Given the description of an element on the screen output the (x, y) to click on. 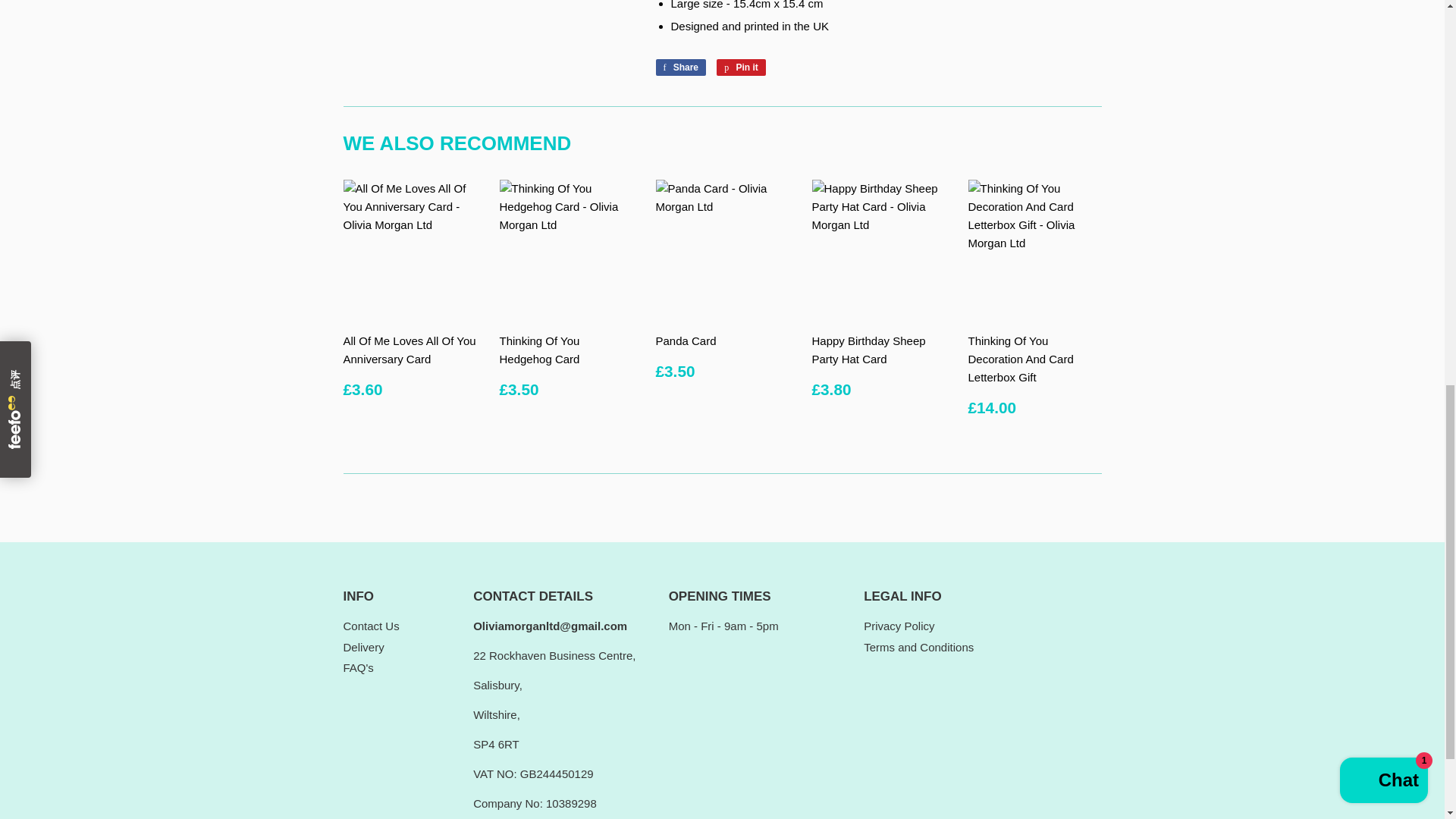
Share on Facebook (680, 67)
Pin on Pinterest (740, 67)
